Given the description of an element on the screen output the (x, y) to click on. 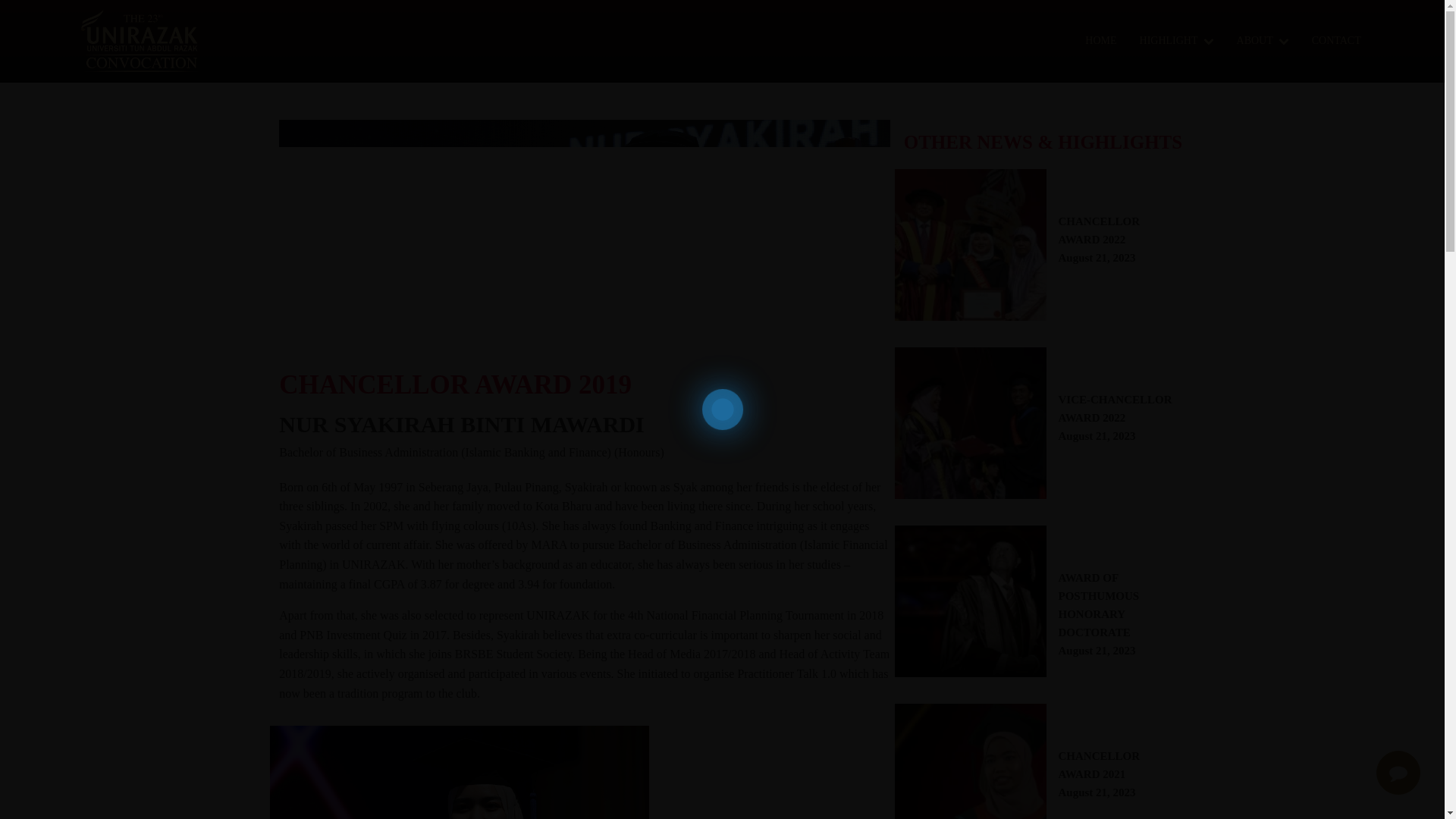
ABOUT (1262, 40)
CONTACT (1336, 40)
HOME (1109, 782)
HIGHLIGHT (1109, 428)
